Given the description of an element on the screen output the (x, y) to click on. 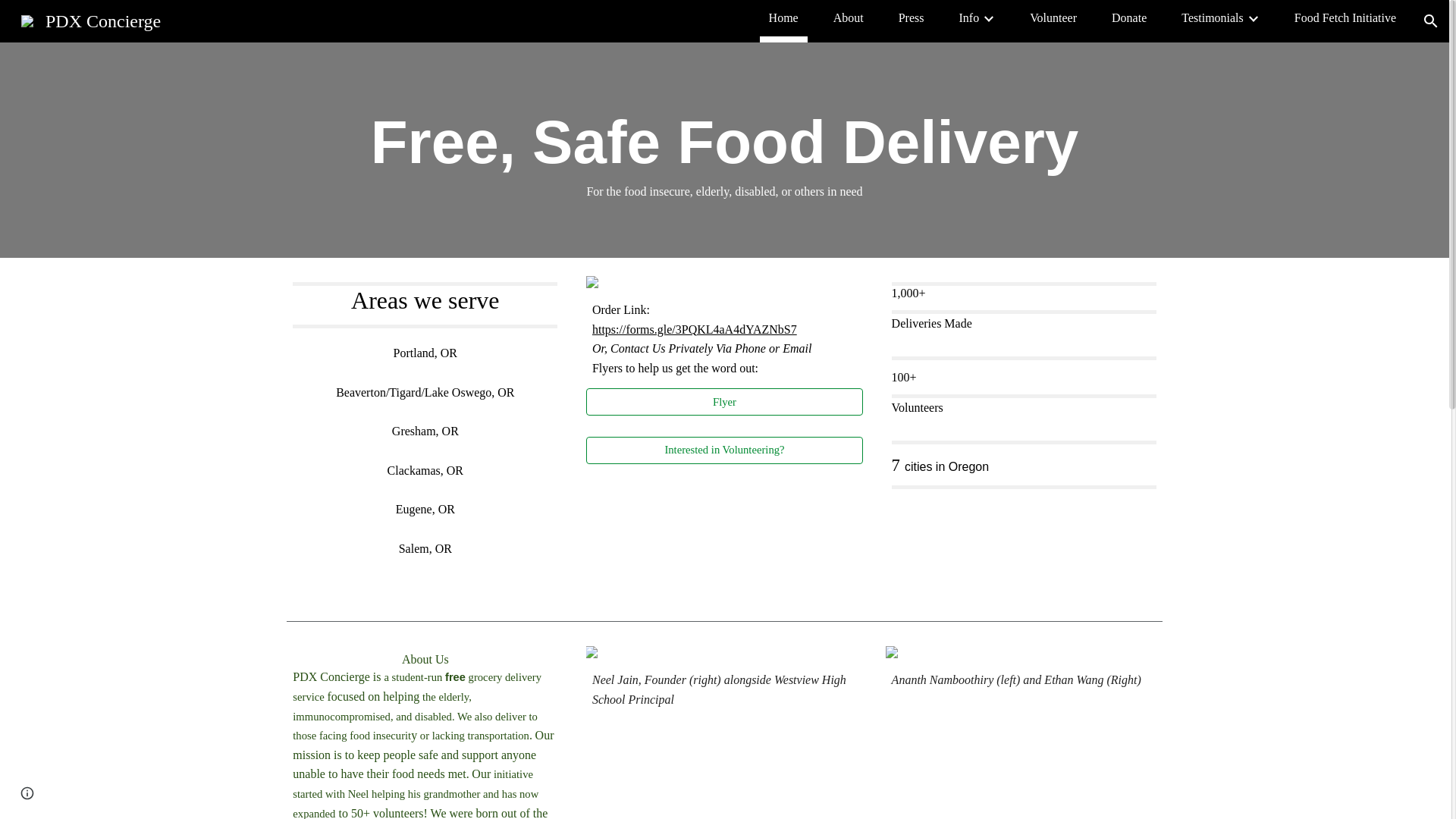
PDX Concierge (90, 19)
Press (911, 17)
About (847, 17)
Food Fetch Initiative (1345, 17)
Testimonials (1211, 17)
Donate (1129, 17)
Home (782, 17)
Volunteer (1053, 17)
Info (968, 17)
